Given the description of an element on the screen output the (x, y) to click on. 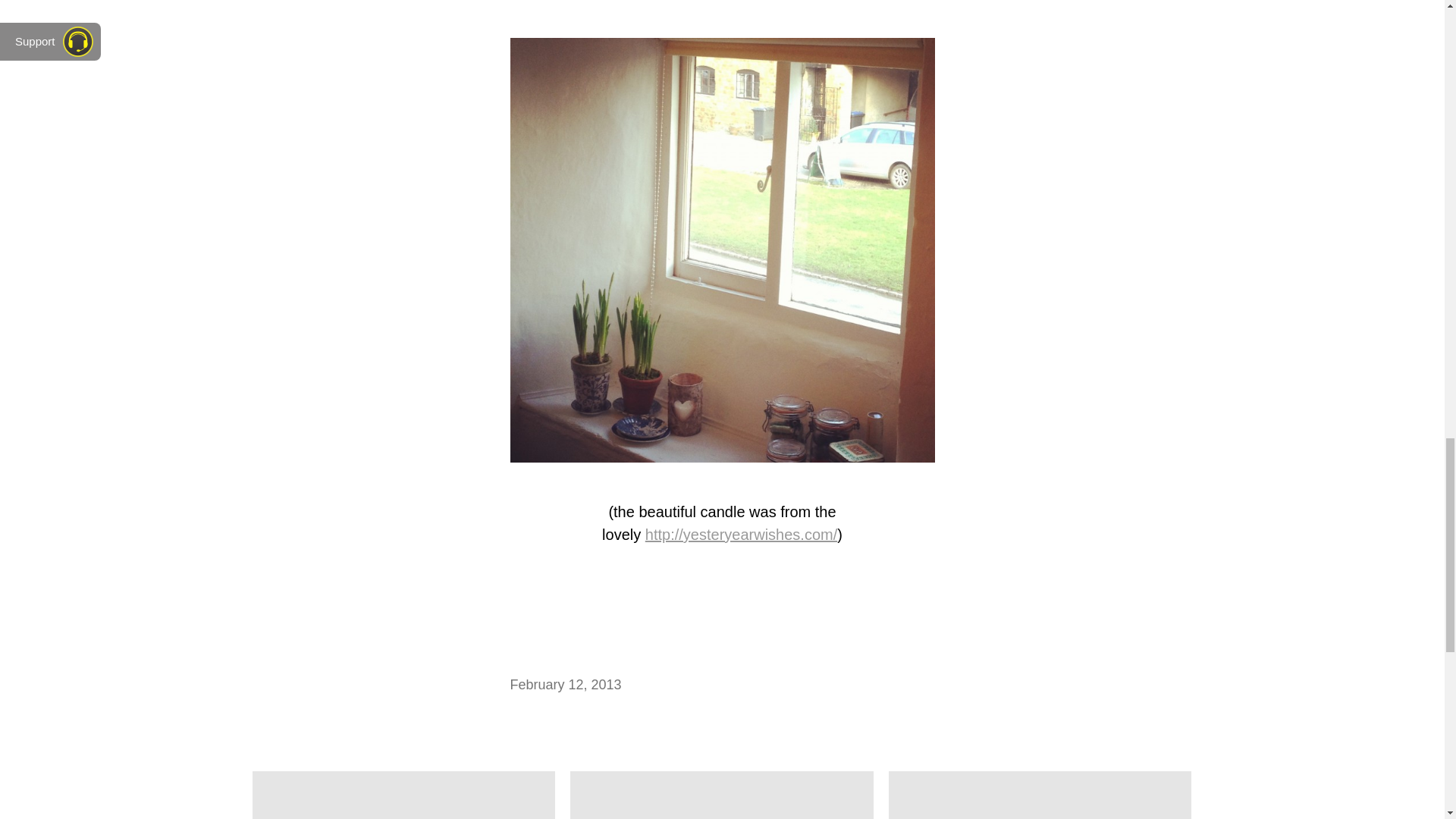
February 12, 2013 (565, 684)
